Given the description of an element on the screen output the (x, y) to click on. 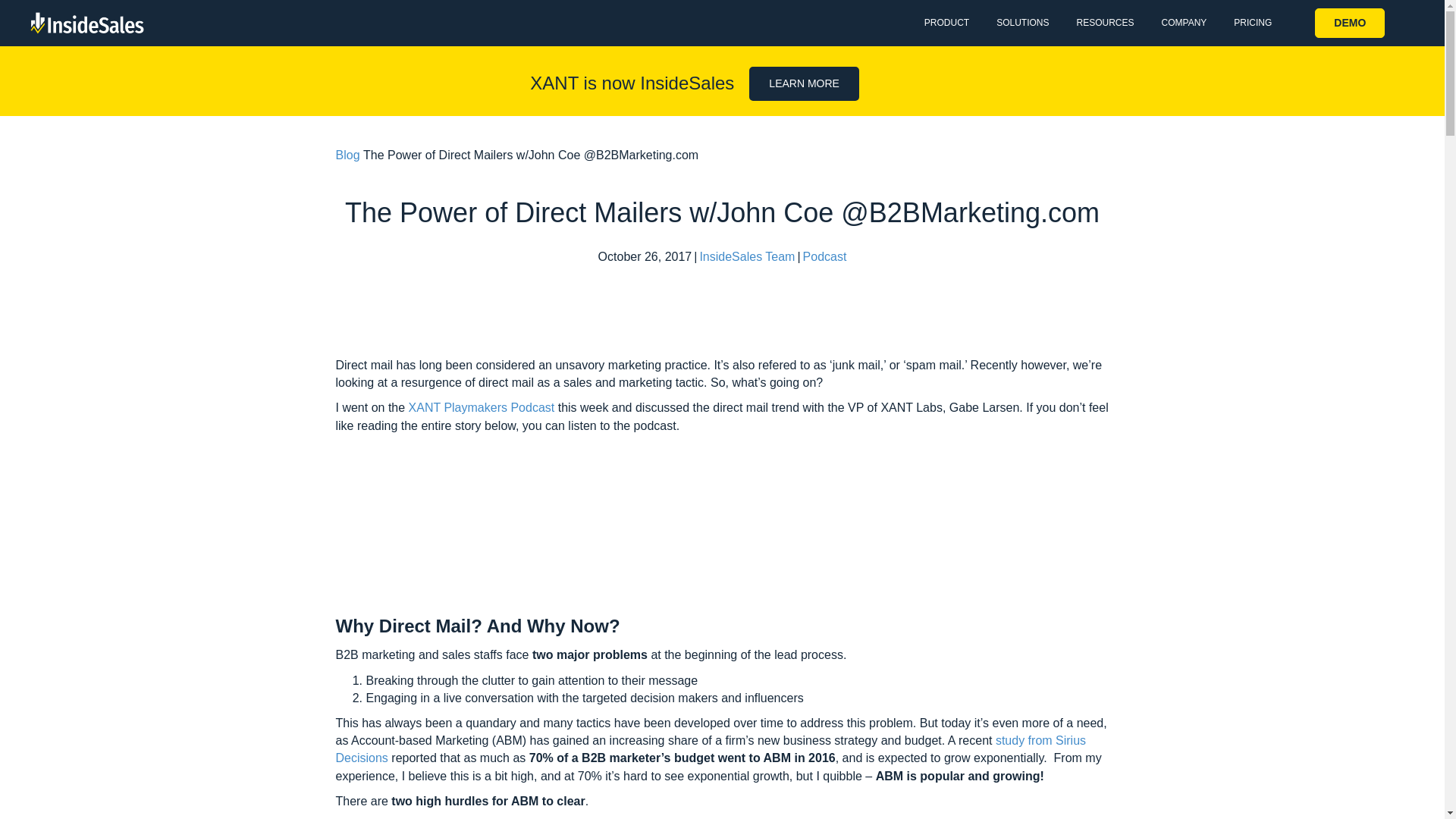
SOLUTIONS (1021, 22)
PRODUCT (946, 22)
RESOURCES (1104, 22)
